Given the description of an element on the screen output the (x, y) to click on. 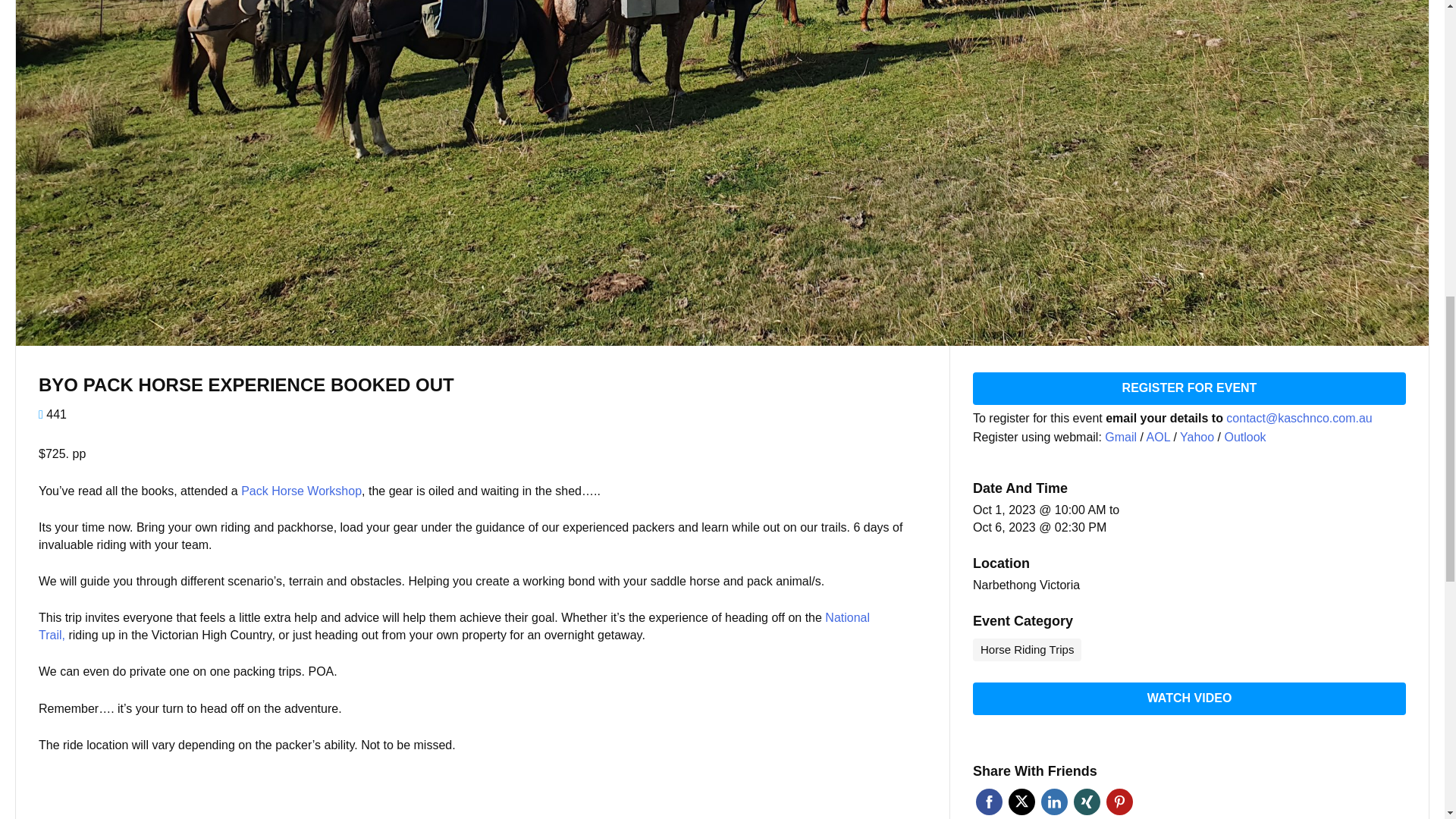
Horse Riding Trips (1027, 649)
Linkedin (1054, 801)
Facebook (989, 801)
Share this page on Twitter (1022, 801)
Pack Horse Workshop (301, 490)
Share this page on Facebook (989, 801)
Twitter (1022, 801)
Yahoo (1198, 436)
Pinterest (1119, 801)
REGISTER FOR EVENT (1189, 388)
